Given the description of an element on the screen output the (x, y) to click on. 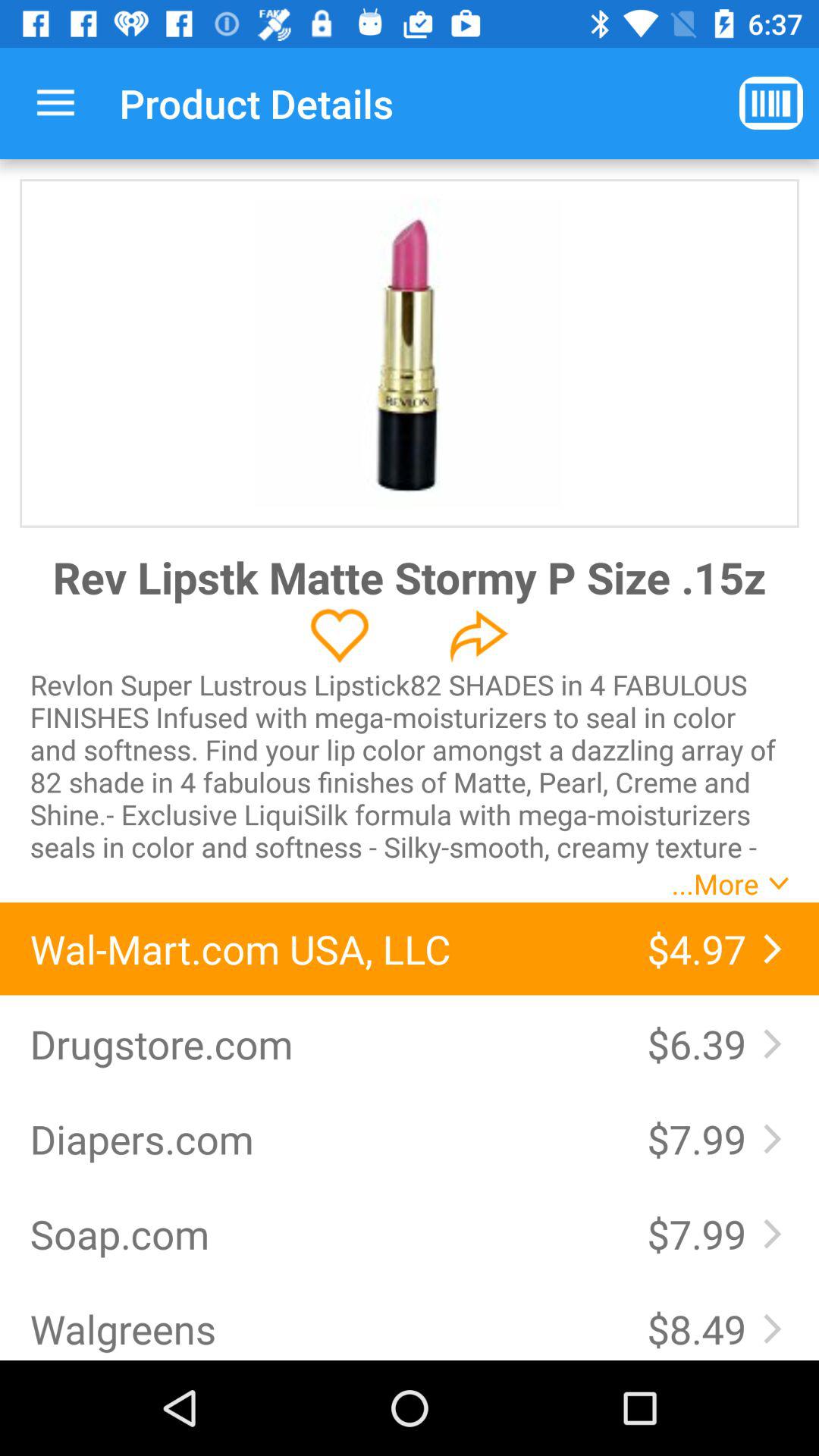
launch item to the right of the drugstore.com (701, 1043)
